Given the description of an element on the screen output the (x, y) to click on. 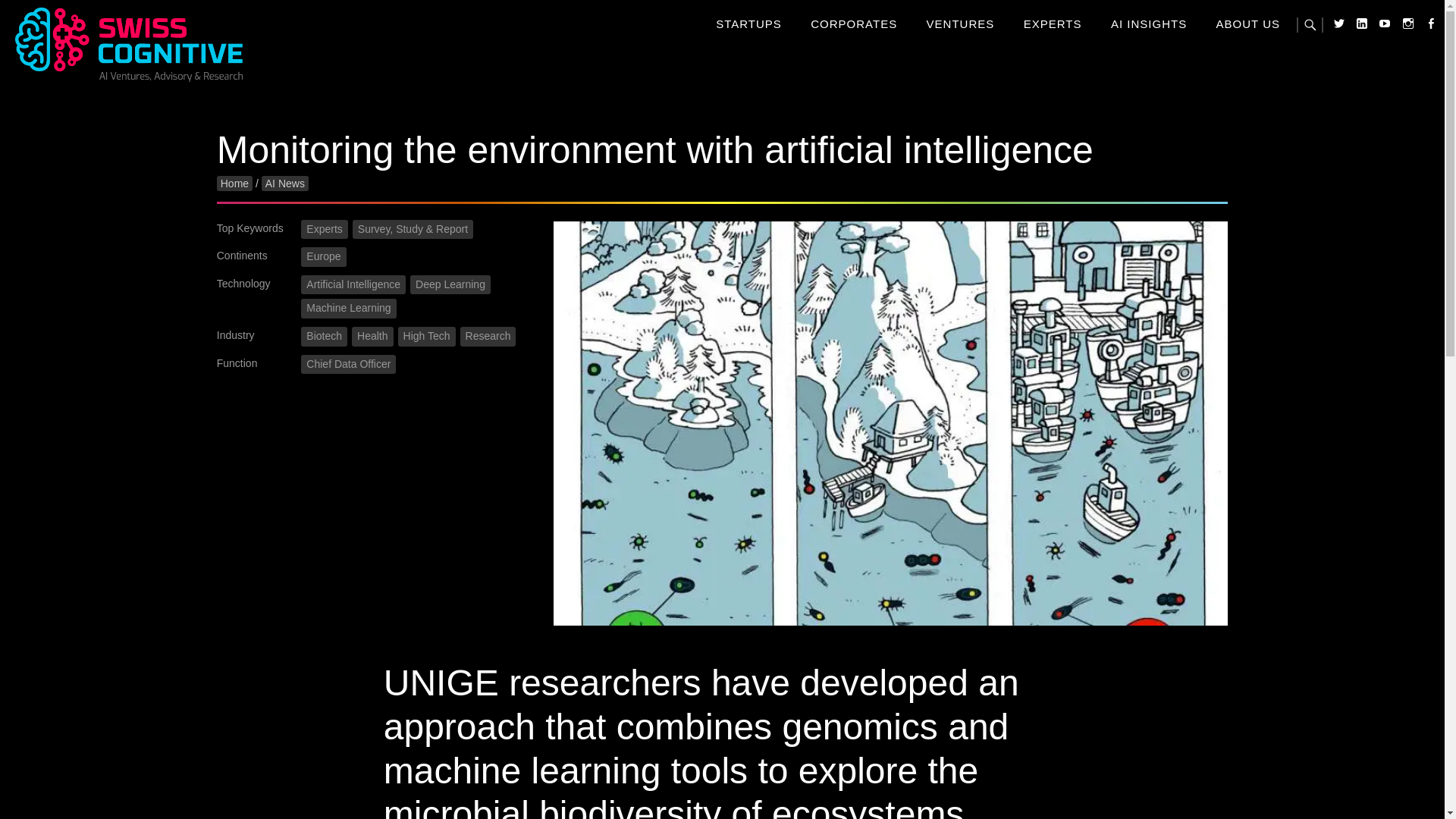
Instagram (1393, 4)
EXPERTS (1052, 23)
CORPORATES (853, 23)
YouTube (1369, 4)
Facebook (1415, 4)
STARTUPS (748, 23)
LinkedIn (1346, 4)
ABOUT US (1247, 23)
AI INSIGHTS (1148, 23)
VENTURES (960, 23)
